Given the description of an element on the screen output the (x, y) to click on. 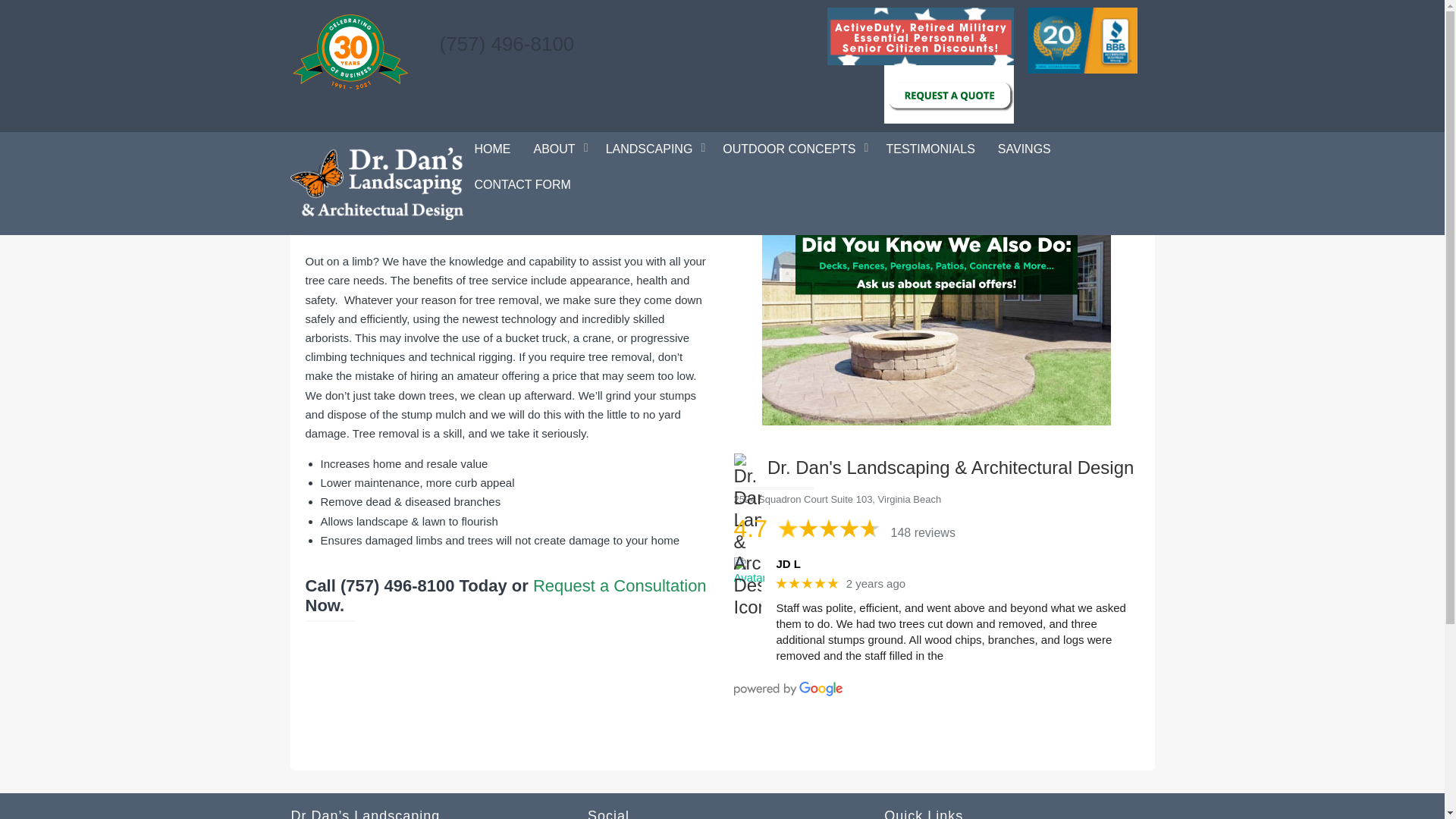
Powered by Google (788, 688)
drdans-banner1 (935, 305)
ABOUT (557, 149)
HOME (492, 149)
LANDSCAPING (652, 149)
OUTDOOR CONCEPTS (793, 149)
Search (802, 333)
